Given the description of an element on the screen output the (x, y) to click on. 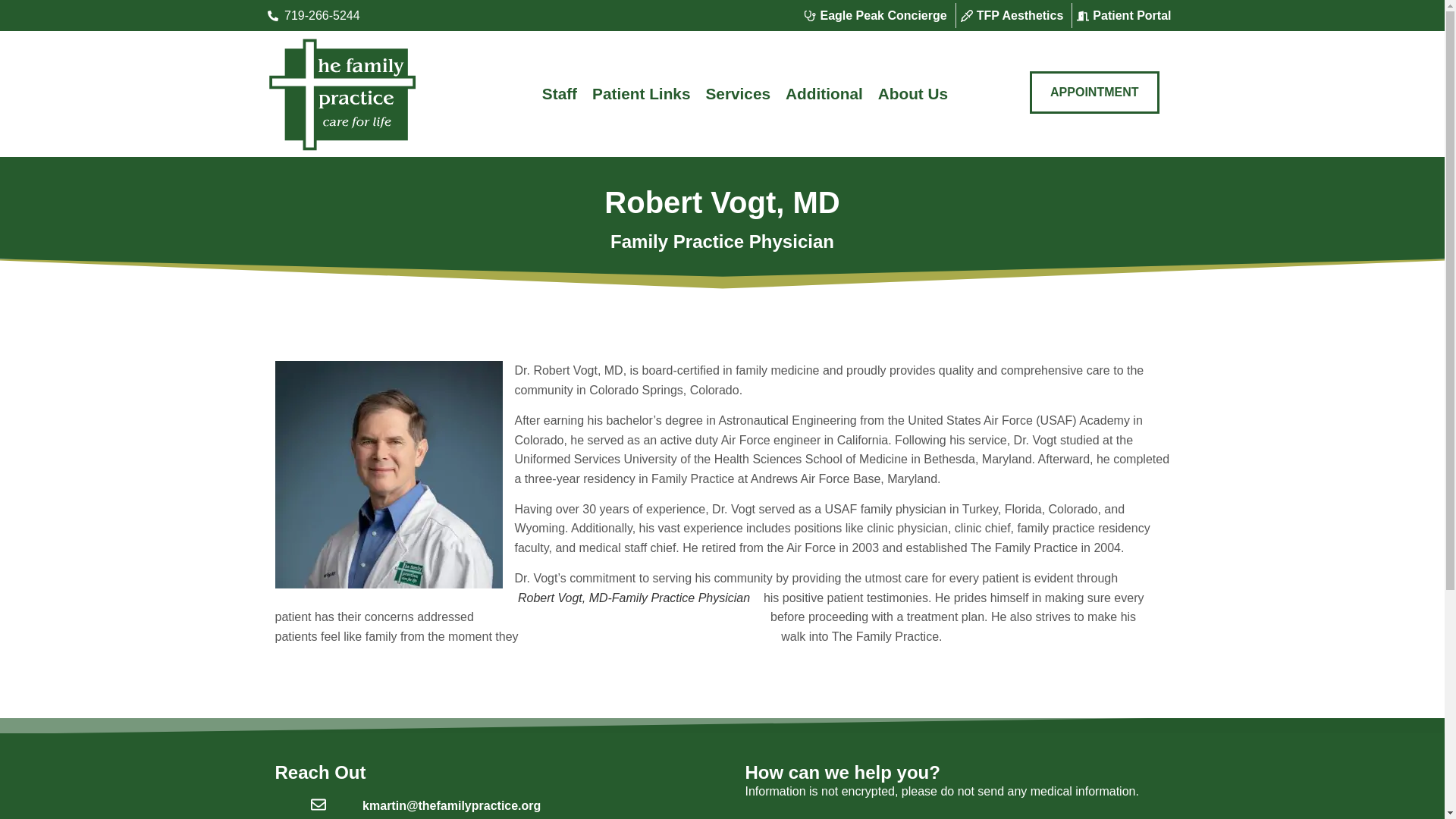
Services (737, 93)
719-266-5244 (366, 15)
Patient Links (641, 93)
About Us (912, 93)
Robert Vogt MD (388, 474)
Additional (823, 93)
